Given the description of an element on the screen output the (x, y) to click on. 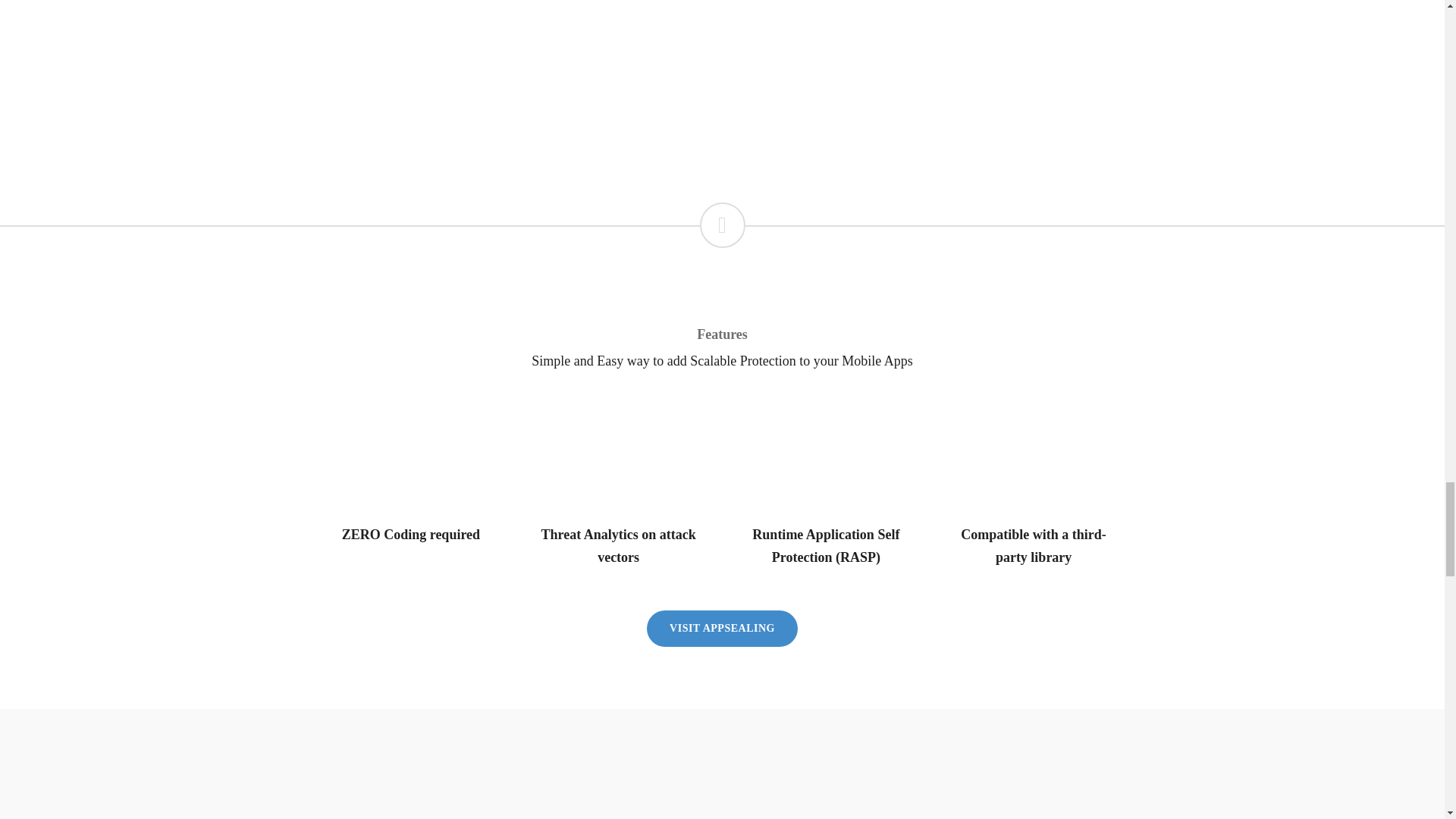
VISIT APPSEALING (721, 628)
